Given the description of an element on the screen output the (x, y) to click on. 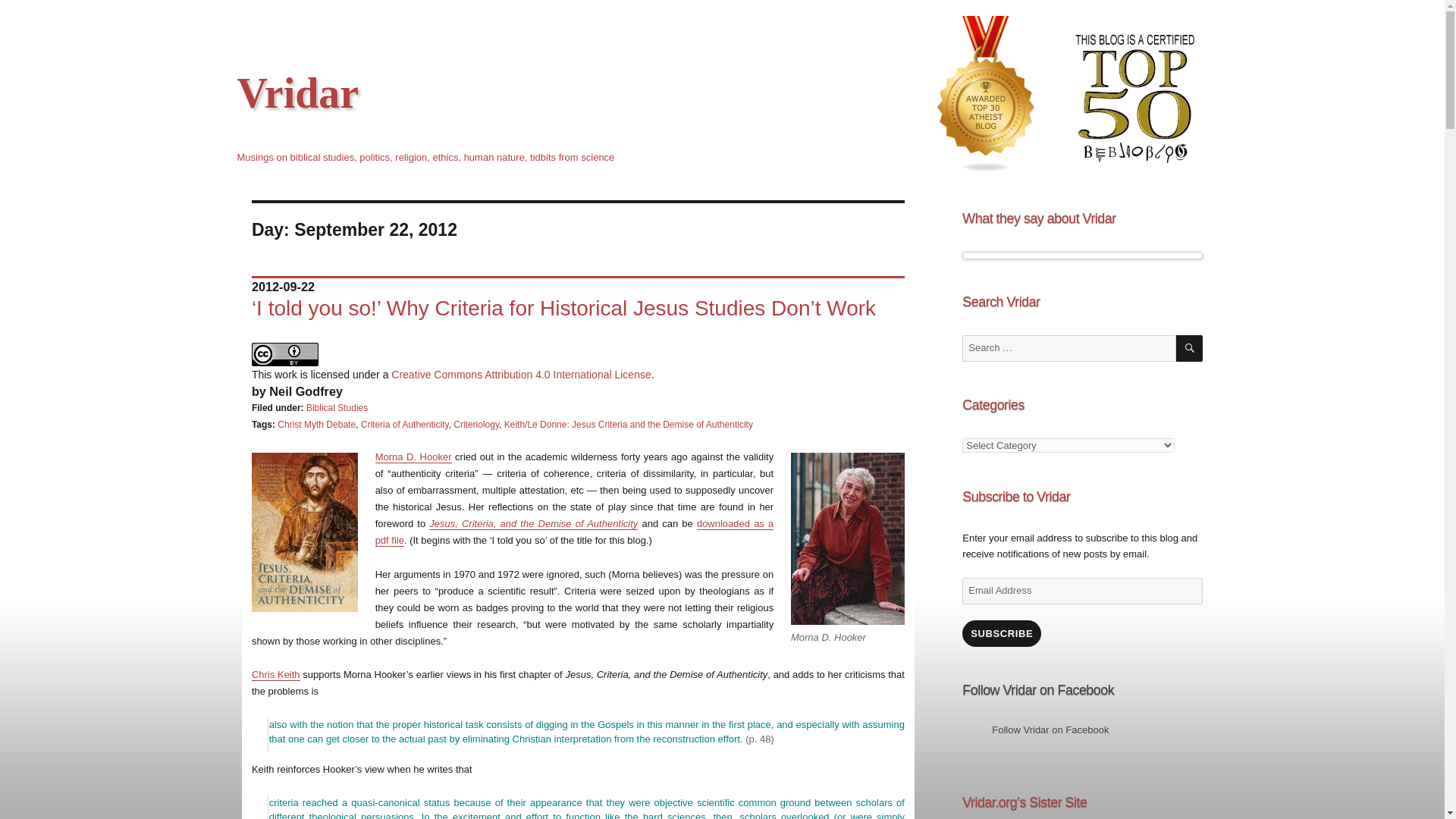
downloaded as a pdf file (574, 531)
Creative Commons Attribution 4.0 International License (520, 374)
Biblical Studies (336, 407)
Criteriology (475, 424)
Jesus, Criteria, and the Demise of Authenticity (533, 523)
Criteria of Authenticity (404, 424)
Christ Myth Debate (316, 424)
Vridar (296, 93)
Chris Keith (275, 674)
Morna D. Hooker (413, 456)
